Given the description of an element on the screen output the (x, y) to click on. 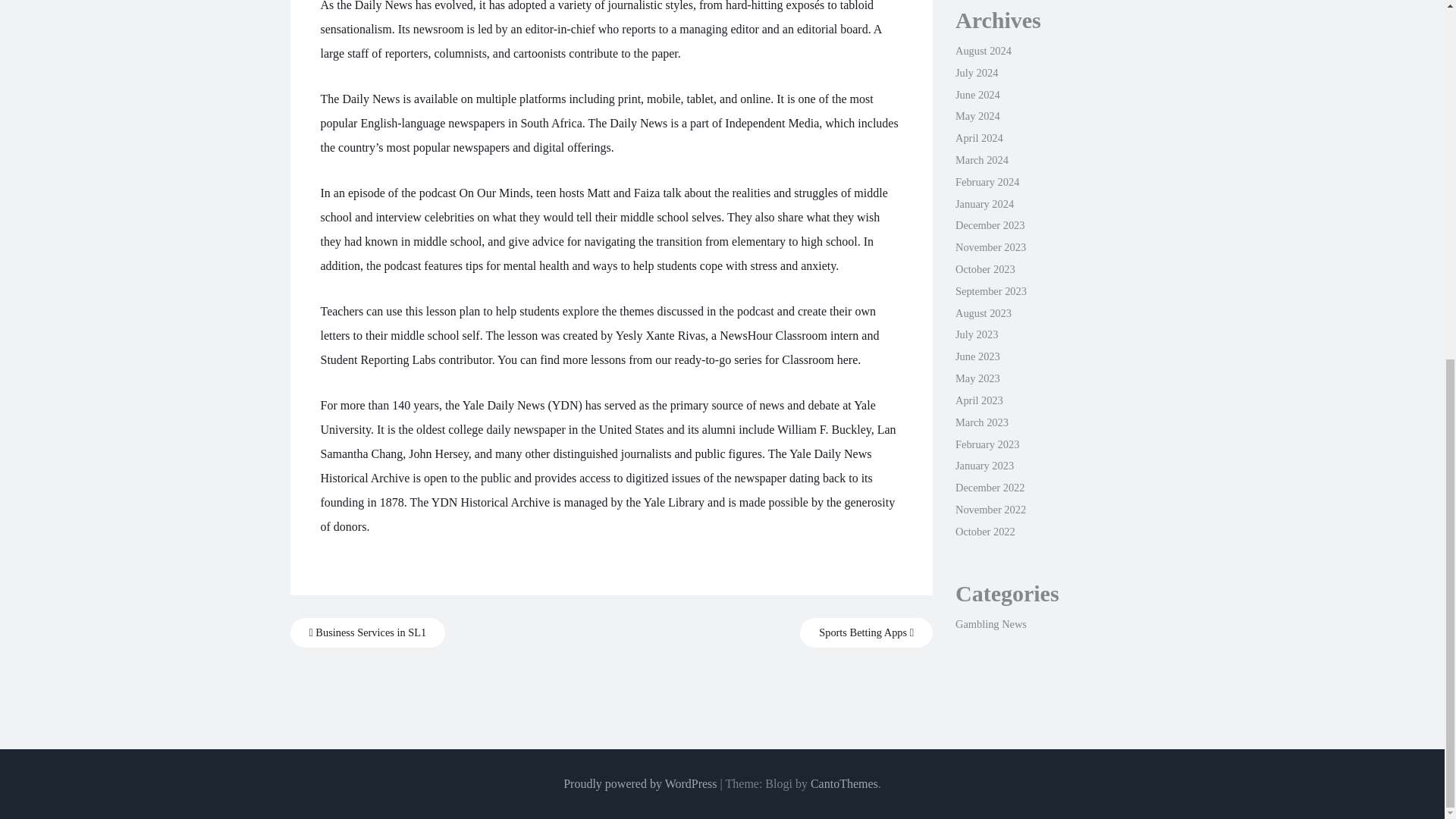
Gambling News (990, 623)
June 2023 (977, 356)
April 2024 (979, 137)
November 2023 (990, 246)
February 2023 (987, 444)
May 2024 (977, 115)
April 2023 (979, 399)
August 2023 (983, 313)
Sports Betting Apps (866, 632)
October 2023 (984, 268)
June 2024 (977, 94)
August 2024 (983, 50)
November 2022 (990, 509)
July 2024 (976, 72)
July 2023 (976, 334)
